Given the description of an element on the screen output the (x, y) to click on. 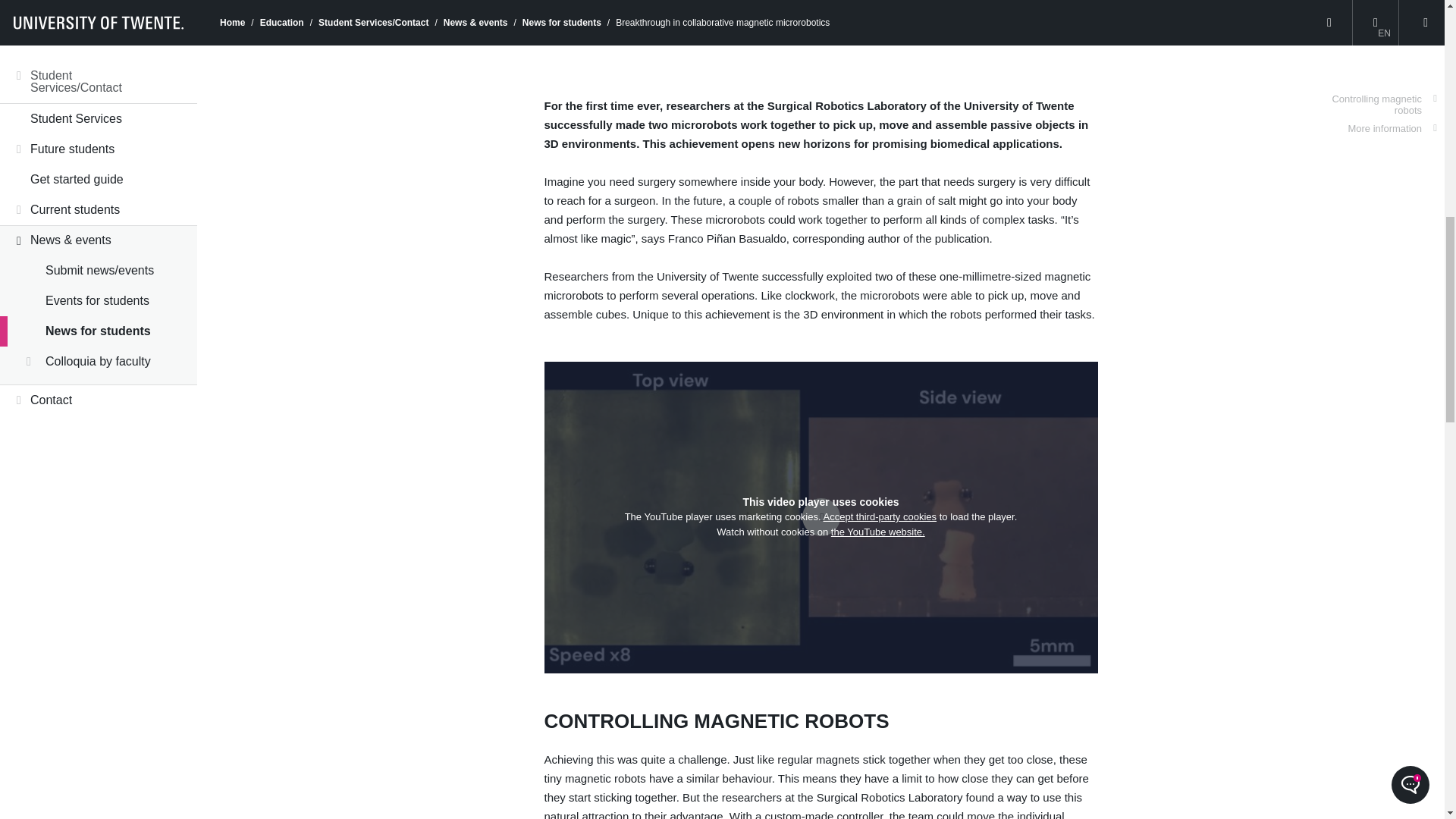
Accept third-party cookies (880, 516)
Controlling magnetic robots (1383, 33)
the YouTube website. (877, 531)
More information (1392, 57)
More information (1392, 57)
Controlling magnetic robots (1383, 33)
